Given the description of an element on the screen output the (x, y) to click on. 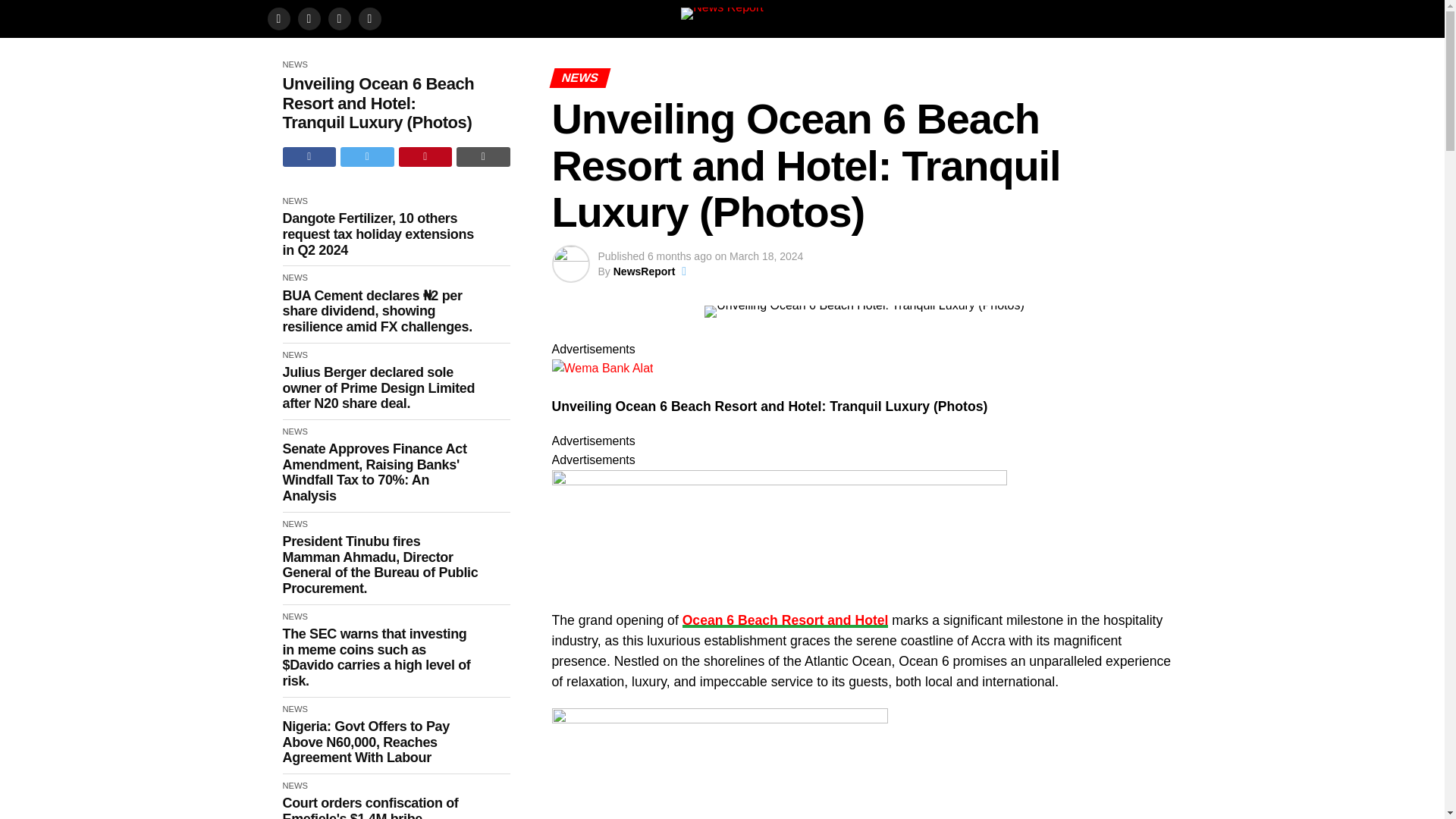
Tweet This Post (367, 157)
Pin This Post (425, 157)
Share on Facebook (309, 157)
